Given the description of an element on the screen output the (x, y) to click on. 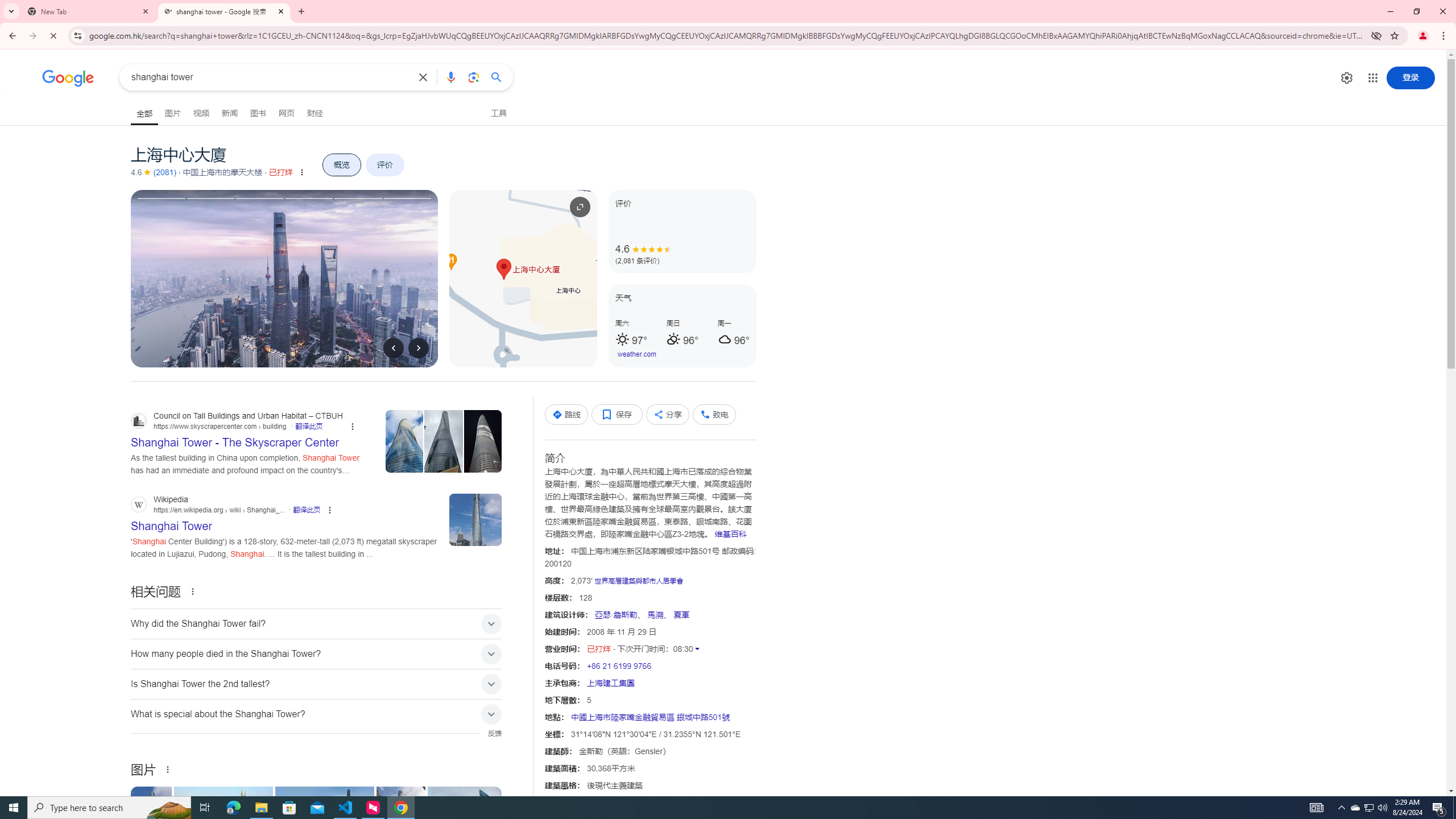
Why did the Shanghai Tower fail? (316, 623)
